Given the description of an element on the screen output the (x, y) to click on. 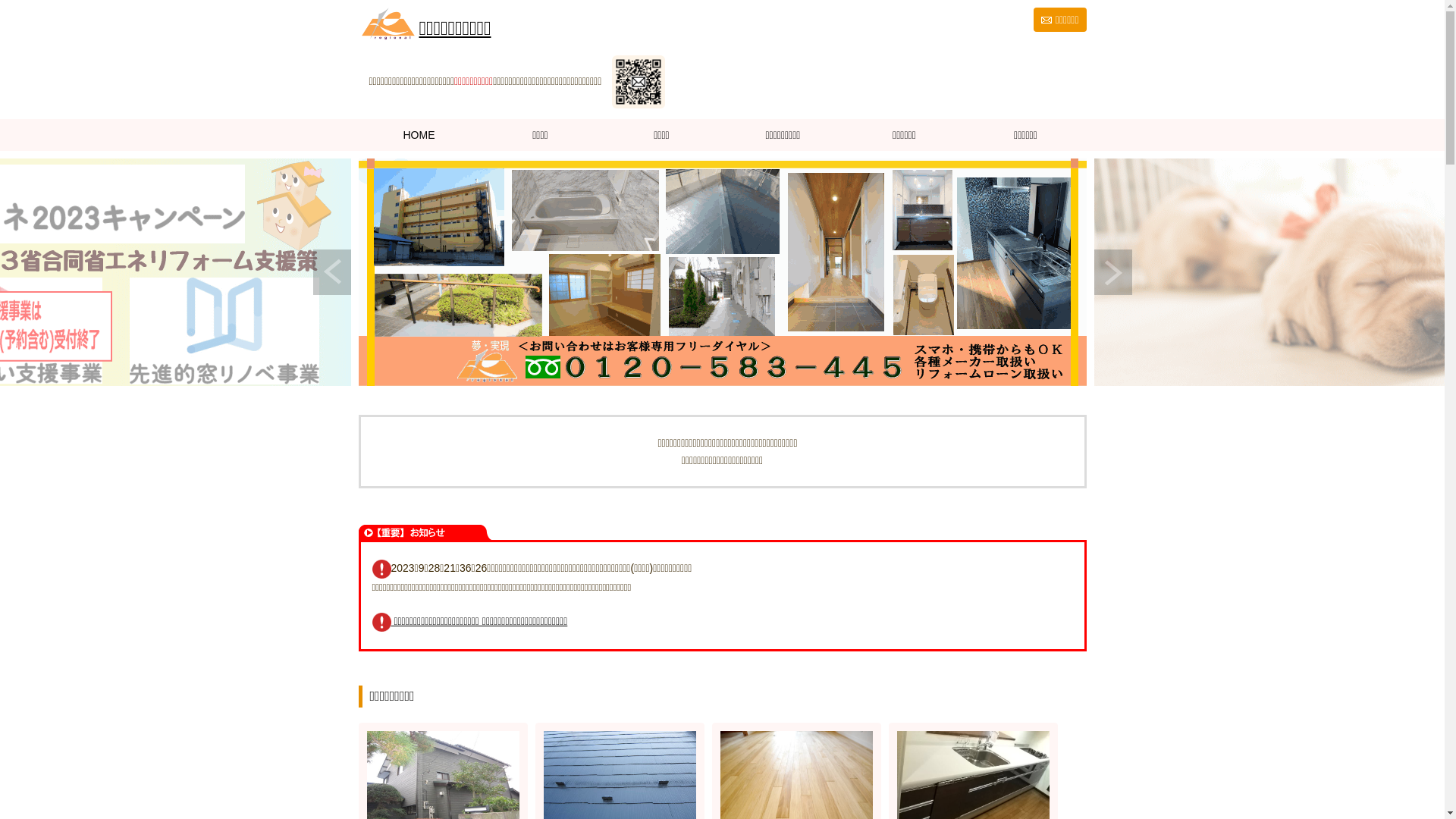
HOME Element type: text (418, 134)
